Given the description of an element on the screen output the (x, y) to click on. 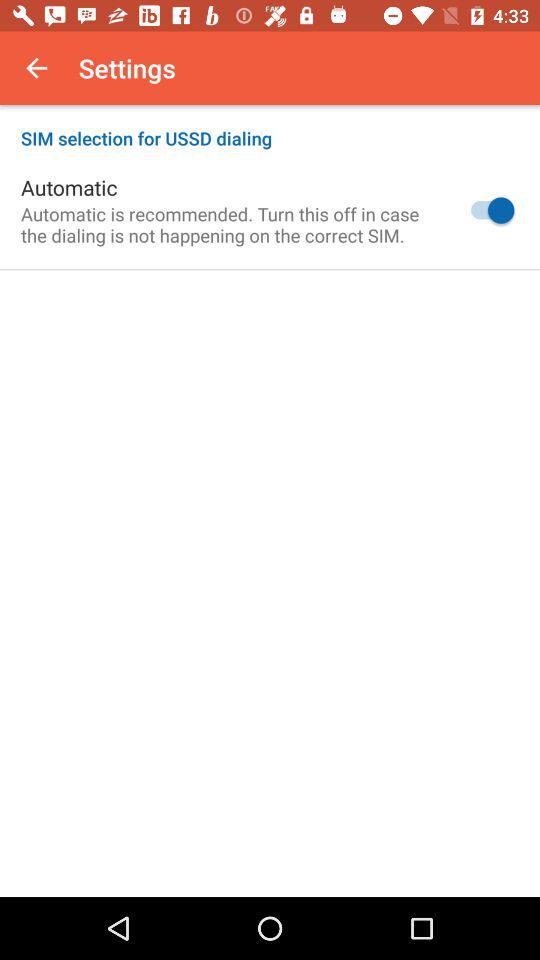
click the icon below the sim selection for item (487, 210)
